Given the description of an element on the screen output the (x, y) to click on. 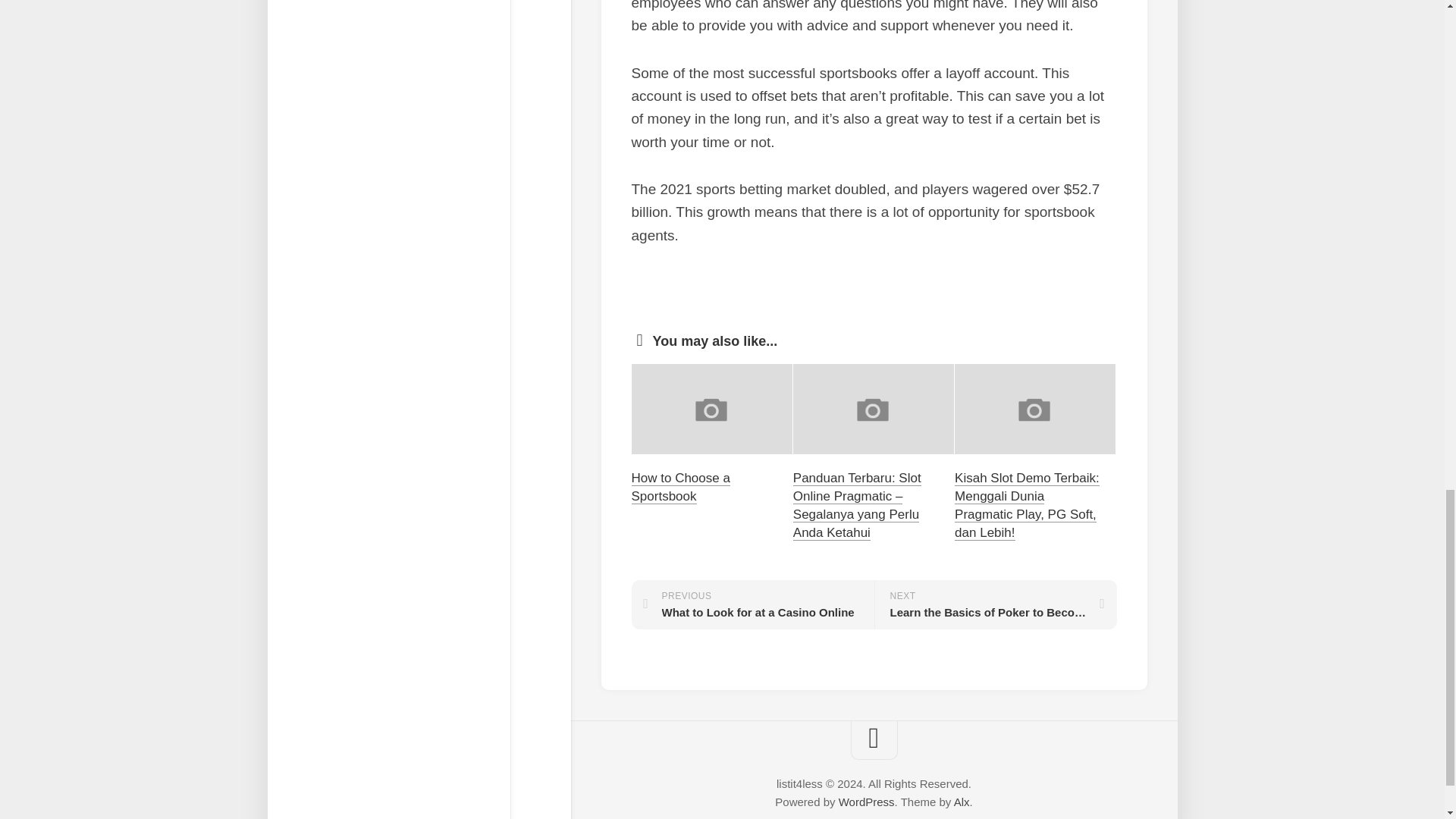
Alx (994, 604)
How to Choose a Sportsbook (961, 801)
WordPress (751, 604)
